Given the description of an element on the screen output the (x, y) to click on. 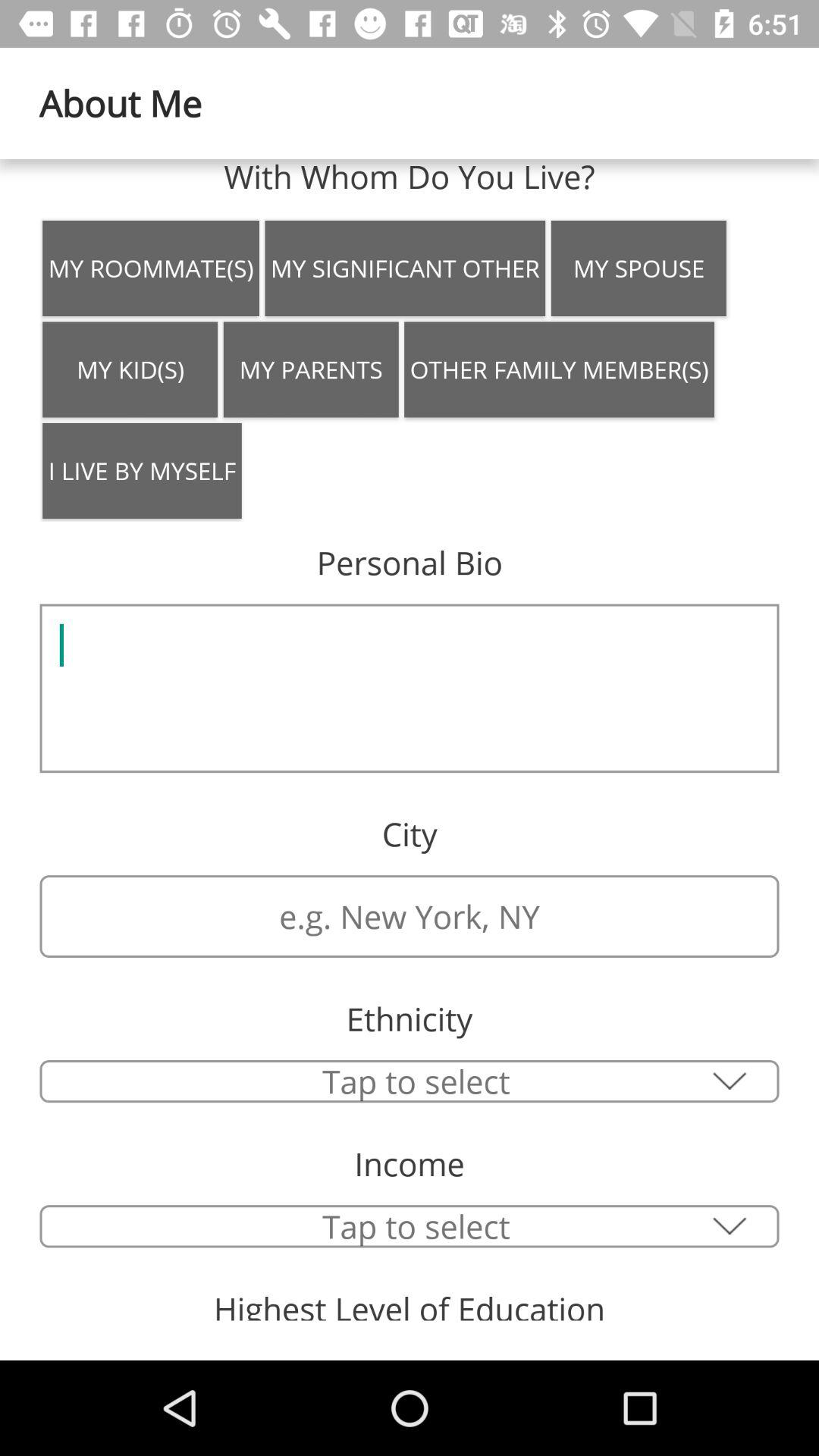
open the my significant other icon (405, 268)
